Given the description of an element on the screen output the (x, y) to click on. 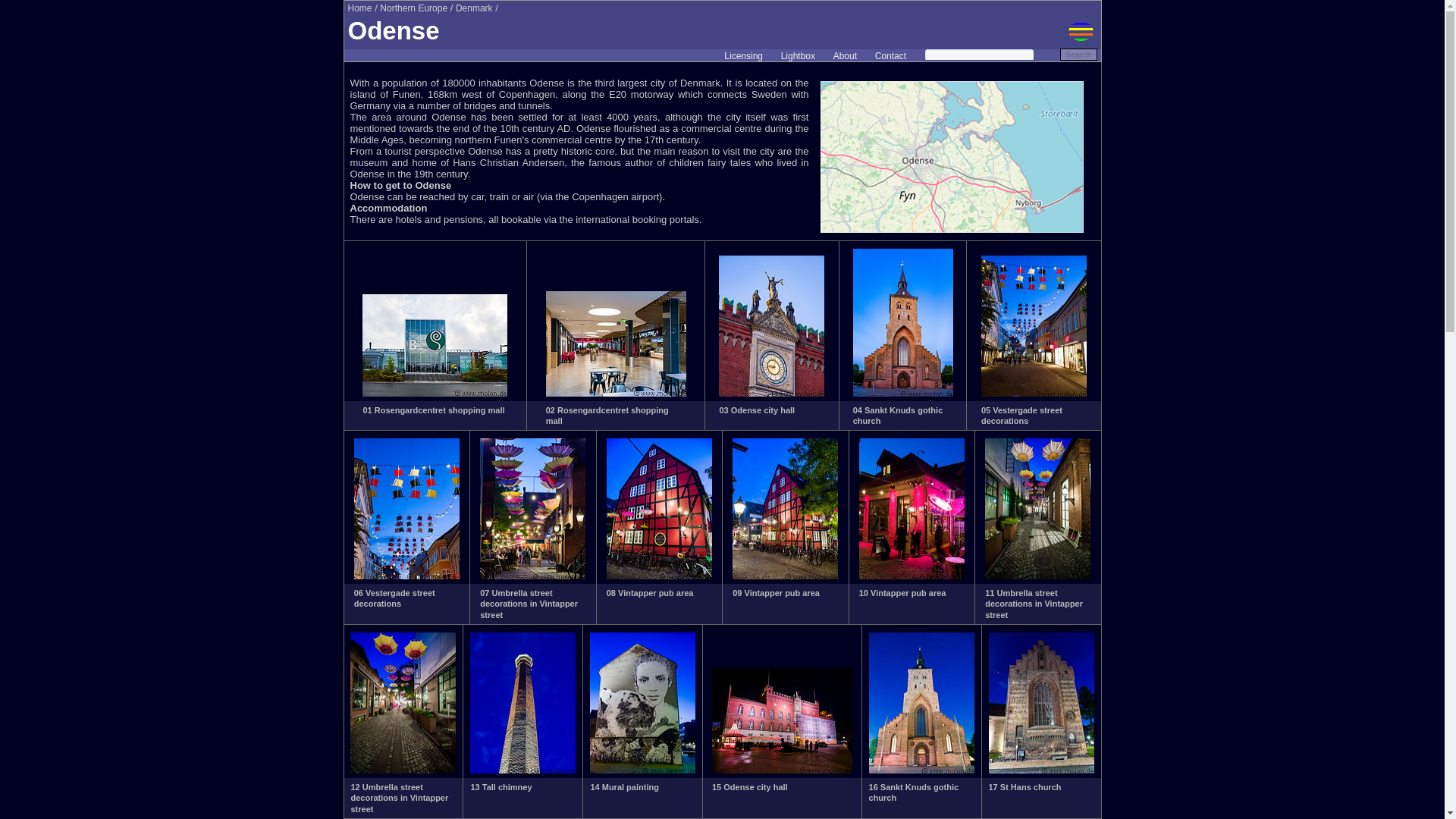
Image DK92156 - click to enlarge (1041, 769)
09 Vintapper pub area (775, 592)
12 Umbrella street decorations in Vintapper street (399, 798)
03 Odense city hall (756, 409)
Image DK92141 - click to enlarge (615, 393)
Northern Europe (413, 8)
Image DK92144 - click to enlarge (1033, 393)
11 Umbrella street decorations in Vintapper street (1034, 603)
Search (1078, 54)
Image DK92153 - click to enlarge (642, 769)
